Given the description of an element on the screen output the (x, y) to click on. 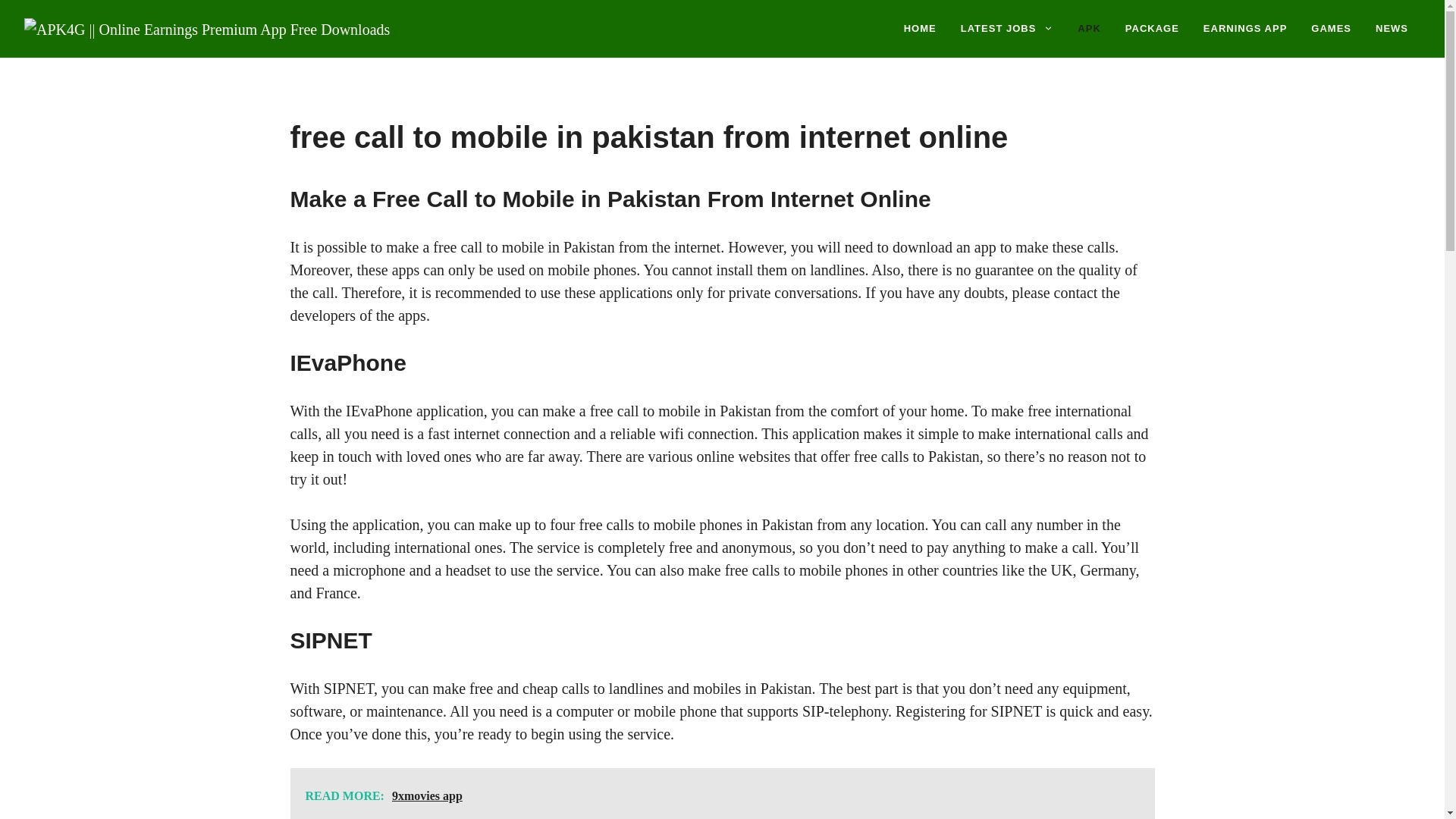
EARNINGS APP (1244, 28)
READ MORE:  9xmovies app (721, 793)
GAMES (1330, 28)
NEWS (1391, 28)
PACKAGE (1152, 28)
APK (1088, 28)
HOME (920, 28)
LATEST JOBS (1007, 28)
